Given the description of an element on the screen output the (x, y) to click on. 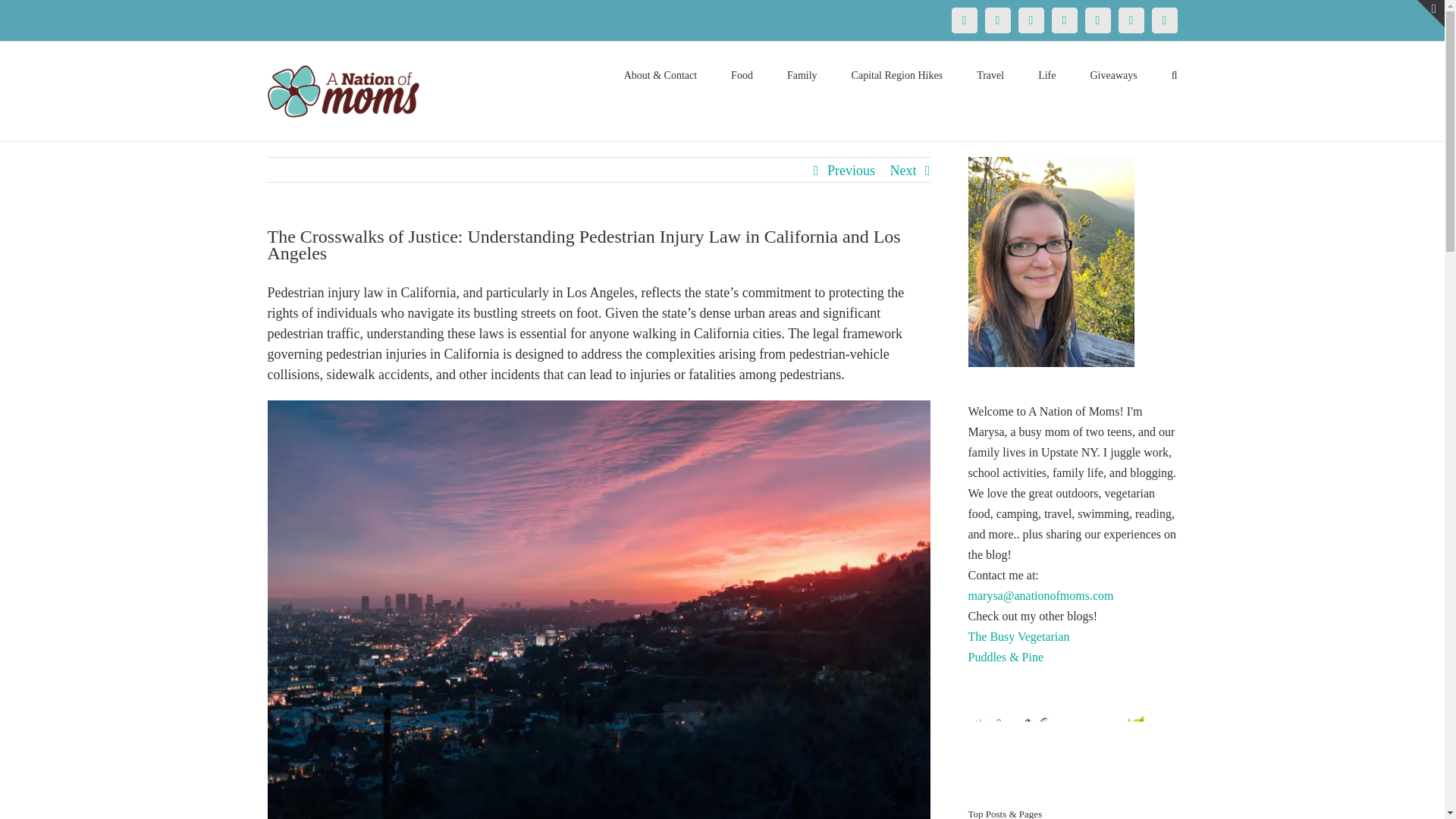
Facebook (963, 20)
Instagram (1064, 20)
Twitter (997, 20)
Instagram (1064, 20)
Facebook (963, 20)
Pinterest (1030, 20)
YouTube (1096, 20)
YouTube (1096, 20)
Twitter (997, 20)
Capital Region Hikes (897, 74)
Pinterest (1030, 20)
Email (1163, 20)
Email (1163, 20)
